Given the description of an element on the screen output the (x, y) to click on. 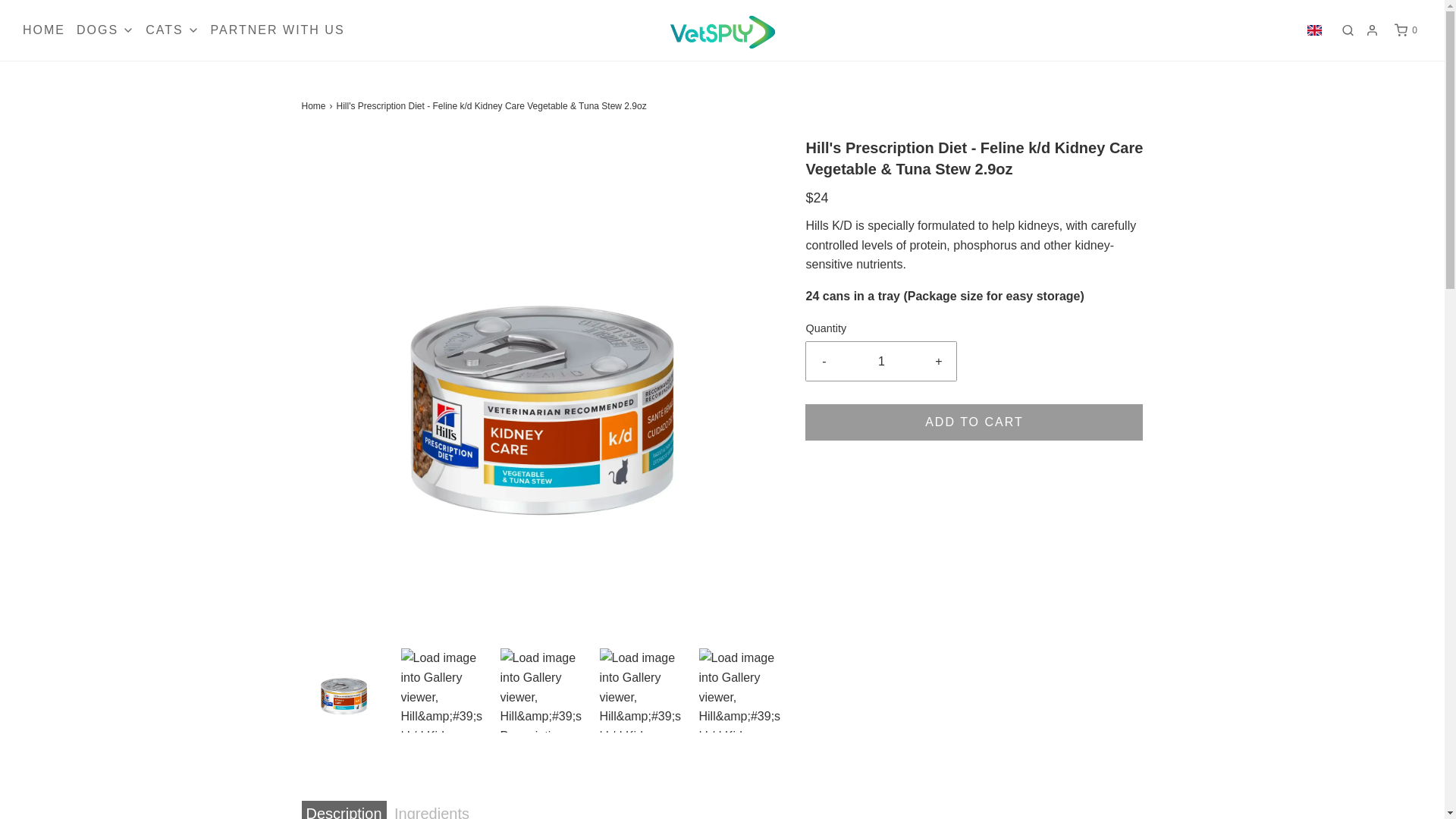
Cart (1406, 30)
DOGS (105, 30)
Search (1347, 29)
Back to the frontpage (315, 106)
0 (1406, 30)
HOME (44, 30)
PARTNER WITH US (278, 30)
CATS (171, 30)
Log in (1371, 29)
1 (881, 361)
